Given the description of an element on the screen output the (x, y) to click on. 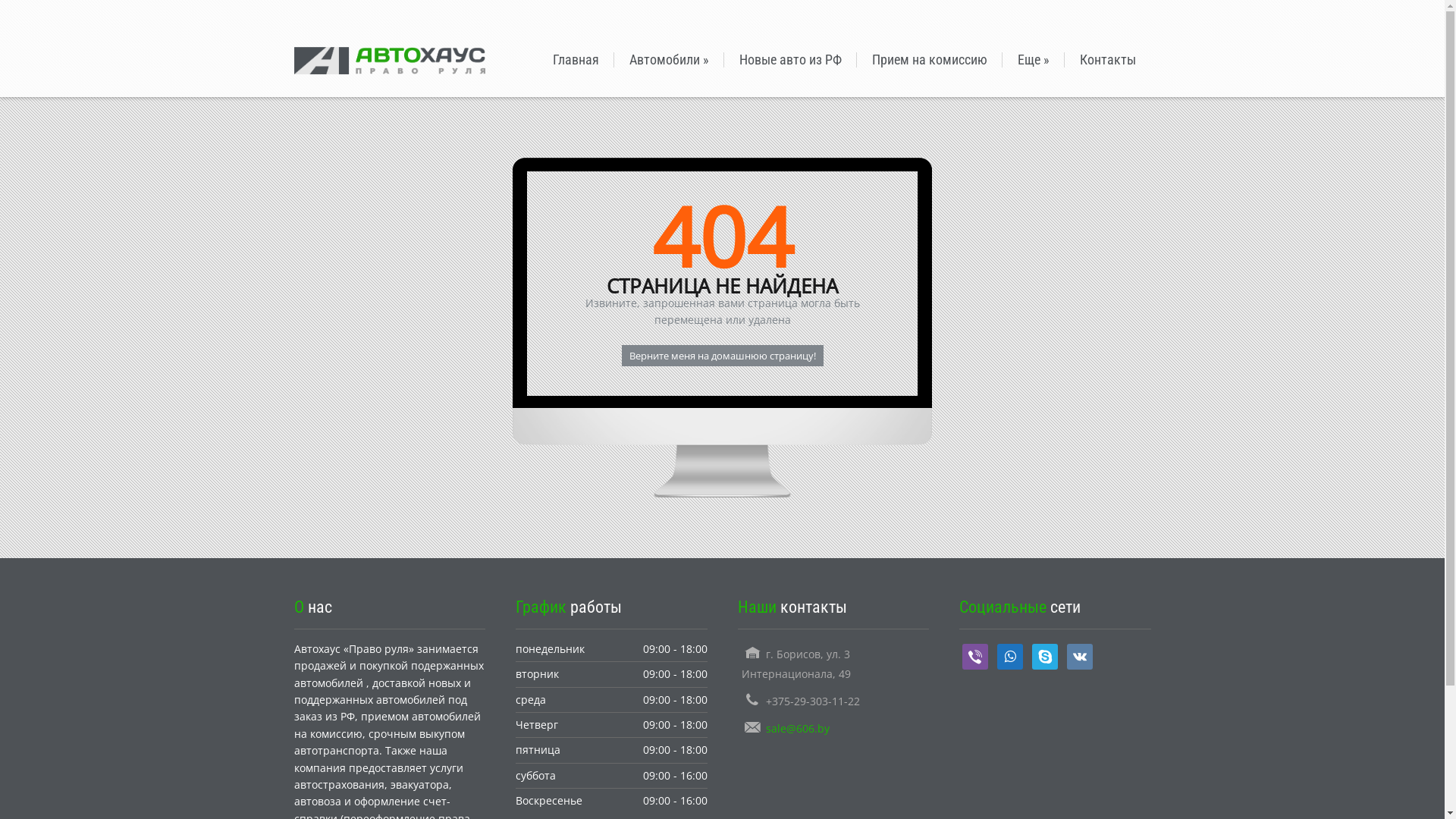
sale@606.by Element type: text (797, 728)
